Given the description of an element on the screen output the (x, y) to click on. 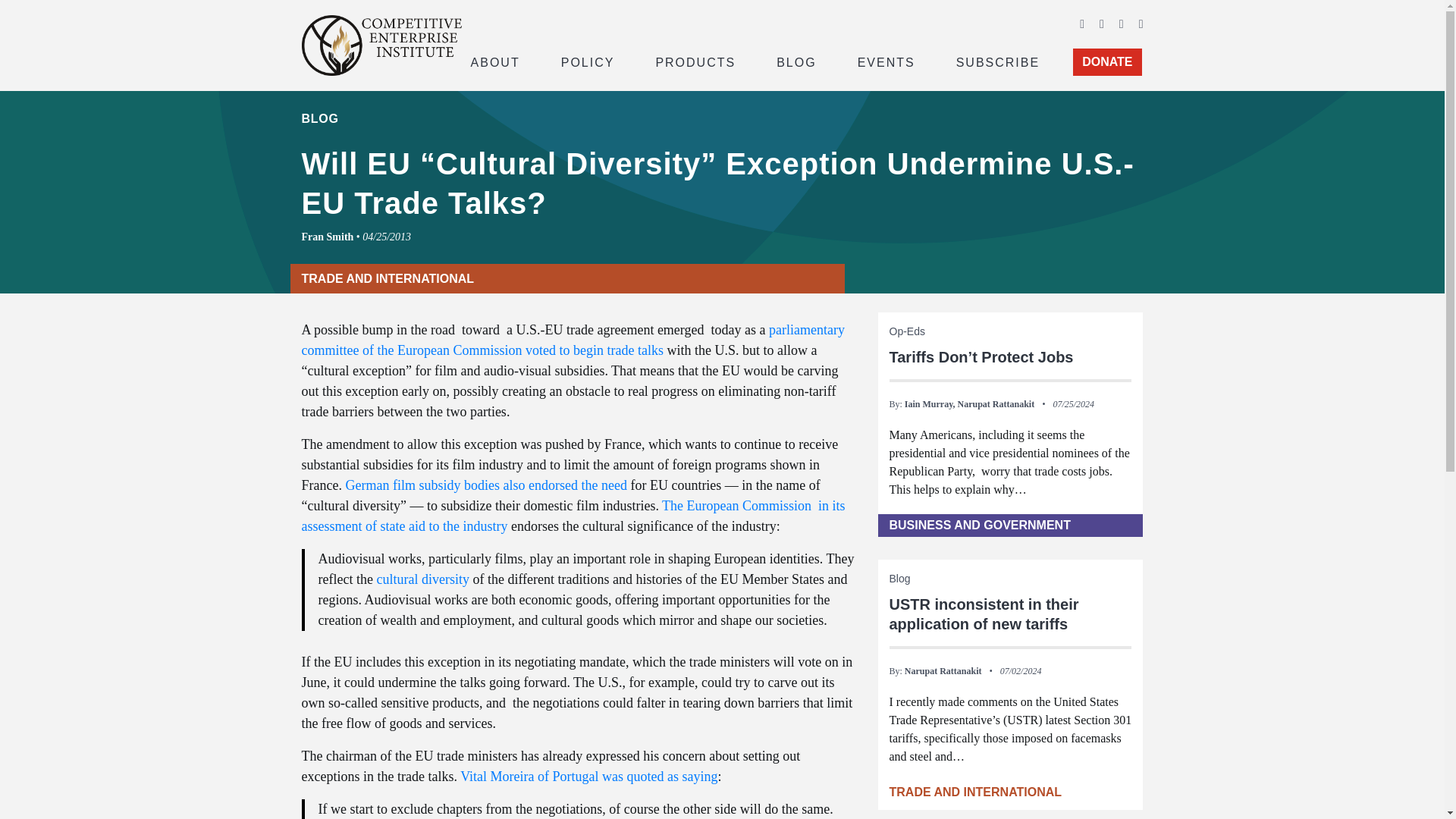
SUBSCRIBE (997, 61)
POLICY (588, 61)
ABOUT (495, 61)
BLOG (796, 61)
EVENTS (886, 61)
PRODUCTS (694, 61)
DONATE (1107, 62)
